Given the description of an element on the screen output the (x, y) to click on. 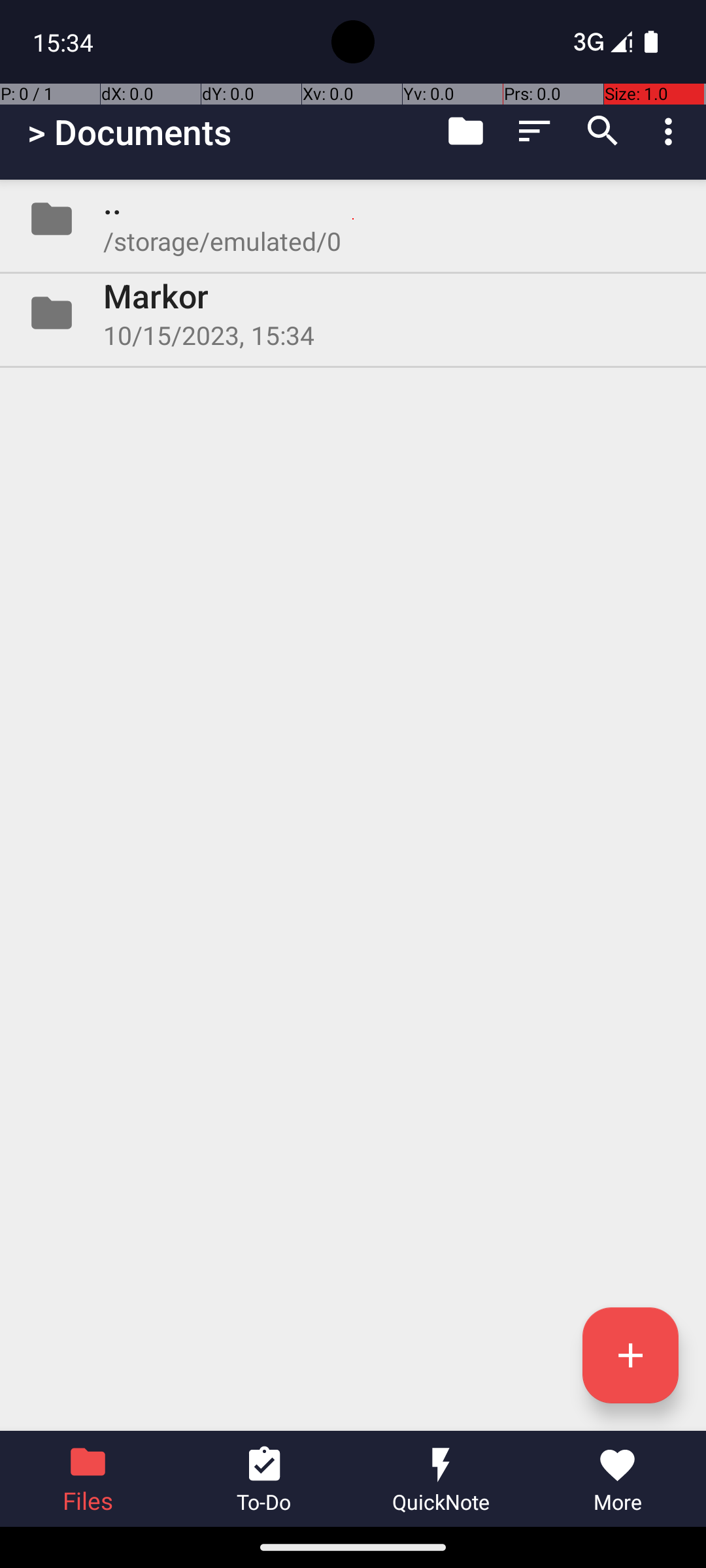
> Documents Element type: android.widget.TextView (129, 131)
Folder .. /storage/emulated/0/Documents Element type: android.widget.LinearLayout (353, 218)
Folder Markor 10/15/2023, 15:34 Element type: android.widget.LinearLayout (353, 312)
